Given the description of an element on the screen output the (x, y) to click on. 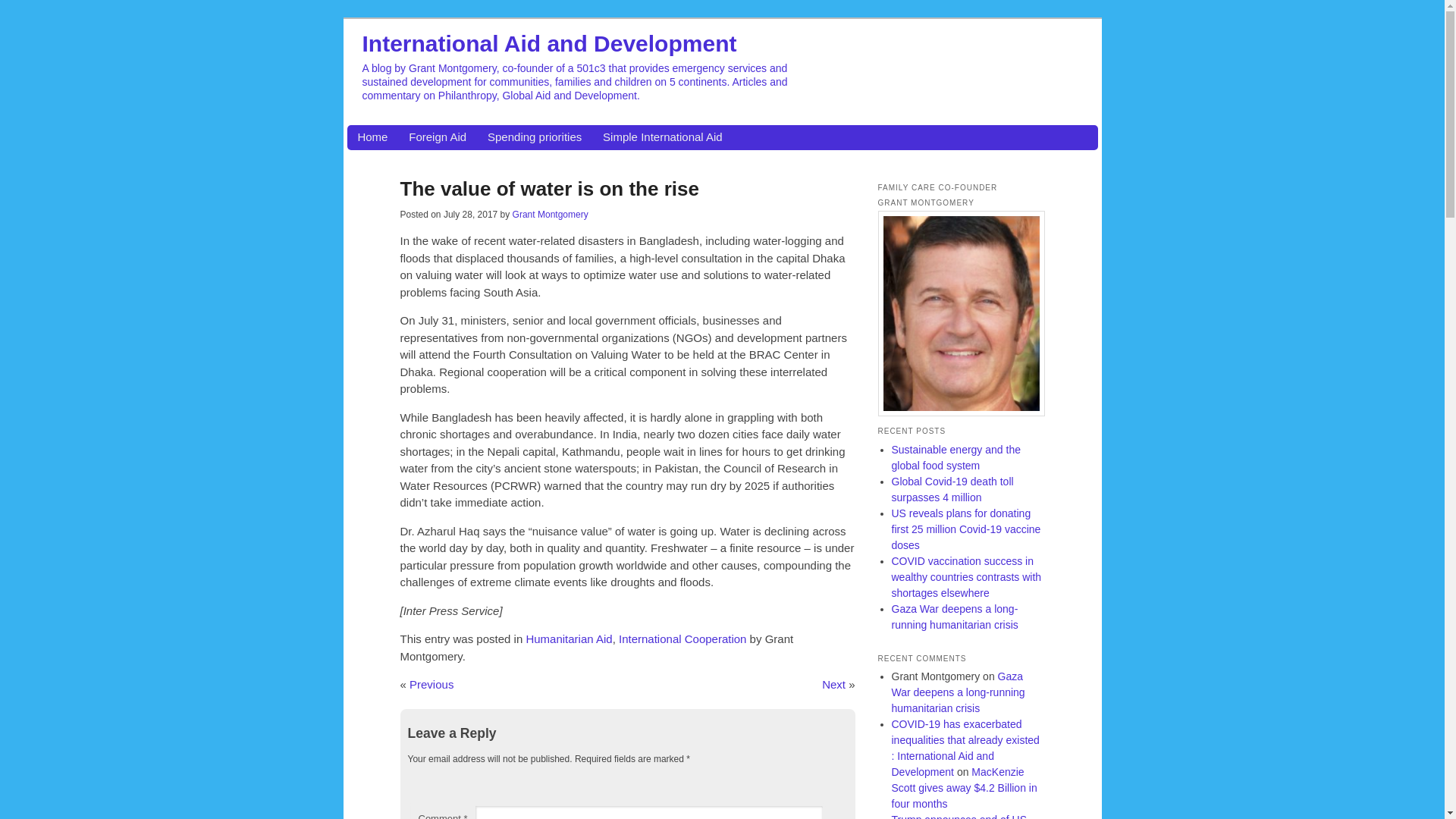
The value of water is on the rise (549, 188)
Foreign Aid (437, 137)
Simple International Aid (662, 137)
Next (833, 684)
Humanitarian Aid (568, 638)
Grant Montgomery (550, 214)
Gaza War deepens a long-running humanitarian crisis (954, 616)
Gaza War deepens a long-running humanitarian crisis (958, 692)
